Given the description of an element on the screen output the (x, y) to click on. 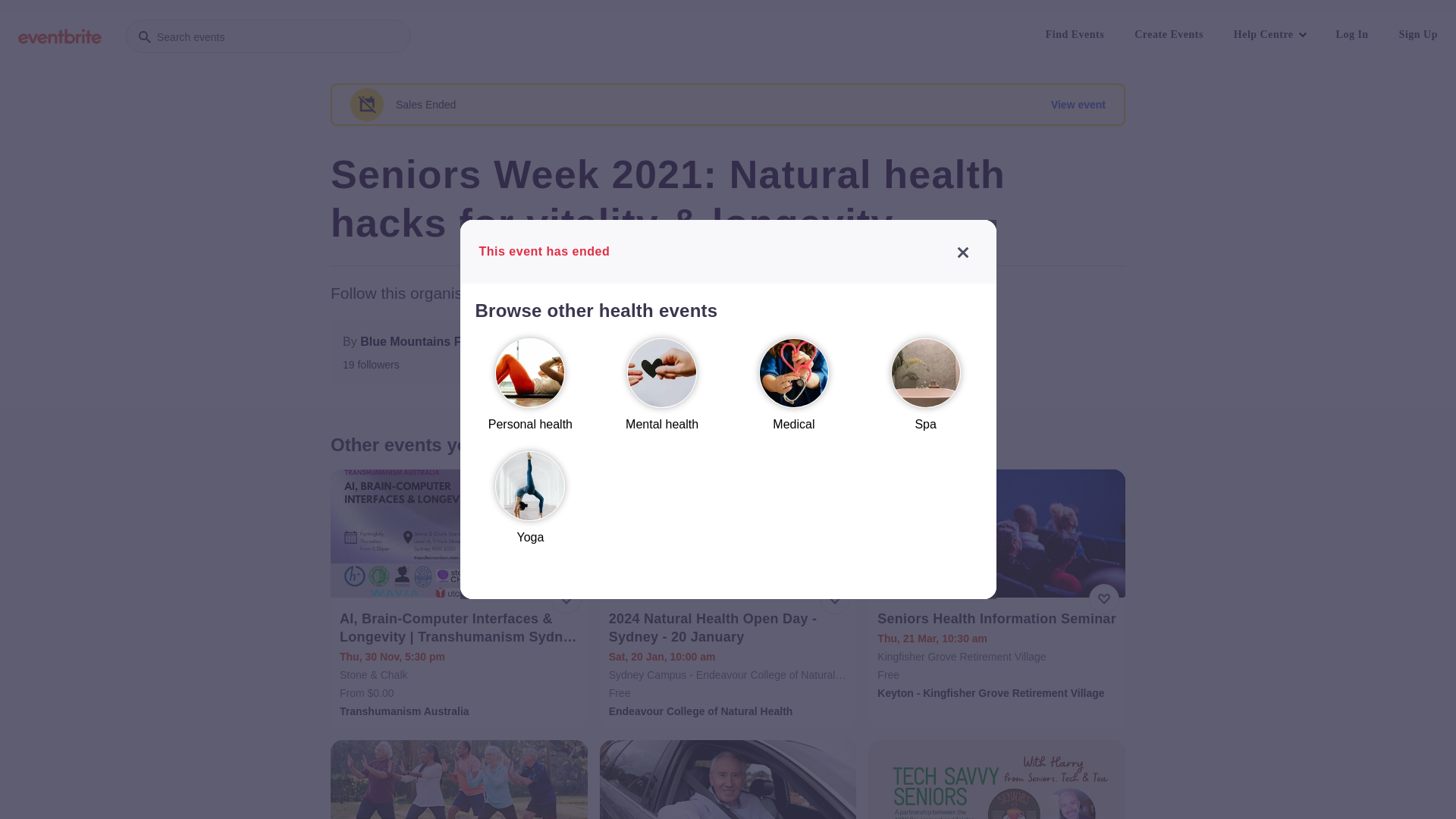
View event Element type: text (1078, 104)
Follow Element type: text (691, 352)
Yoga Element type: text (530, 504)
Log In Element type: text (1352, 34)
Spa Element type: text (925, 391)
Create Events Element type: text (1168, 34)
Find Events Element type: text (1074, 34)
Medical Element type: text (793, 391)
Sign Up Element type: text (1417, 34)
2024 Natural Health Open Day - Sydney - 20 January Element type: text (729, 627)
Seniors Health Information Seminar Element type: text (998, 618)
Search events Element type: text (268, 36)
Eventbrite Element type: hover (59, 35)
Mental health Element type: text (661, 391)
Personal health Element type: text (530, 391)
